Given the description of an element on the screen output the (x, y) to click on. 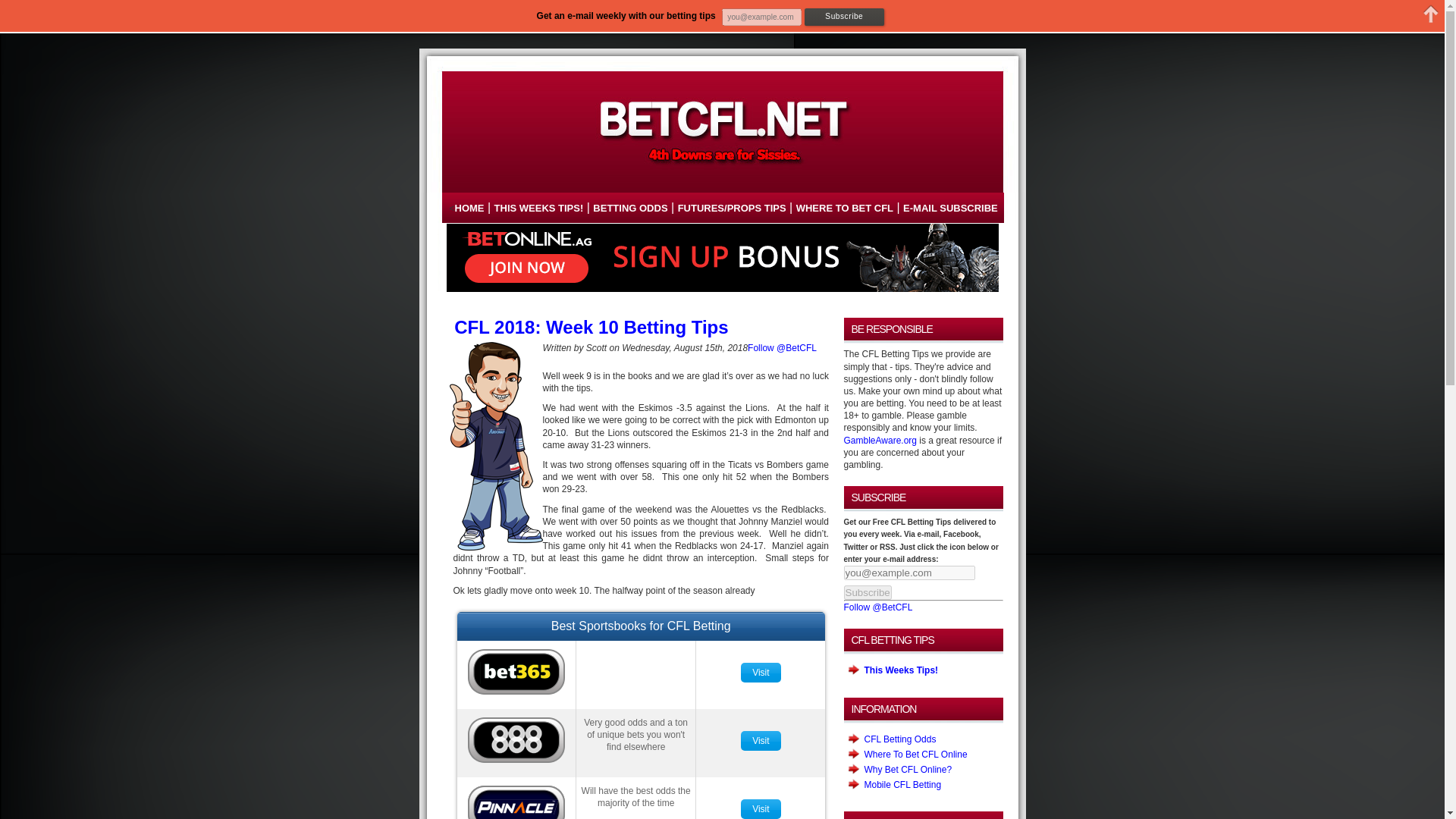
Subscribe (867, 592)
Visit (760, 672)
THIS WEEKS TIPS! (539, 207)
HOME (469, 207)
Subscribe (844, 16)
Visit (760, 808)
Subscribe (867, 592)
 CFL 2018: Week 10 Betting Tips (588, 326)
Mobile CFL Betting (903, 784)
Where To Bet CFL Online (916, 754)
